Given the description of an element on the screen output the (x, y) to click on. 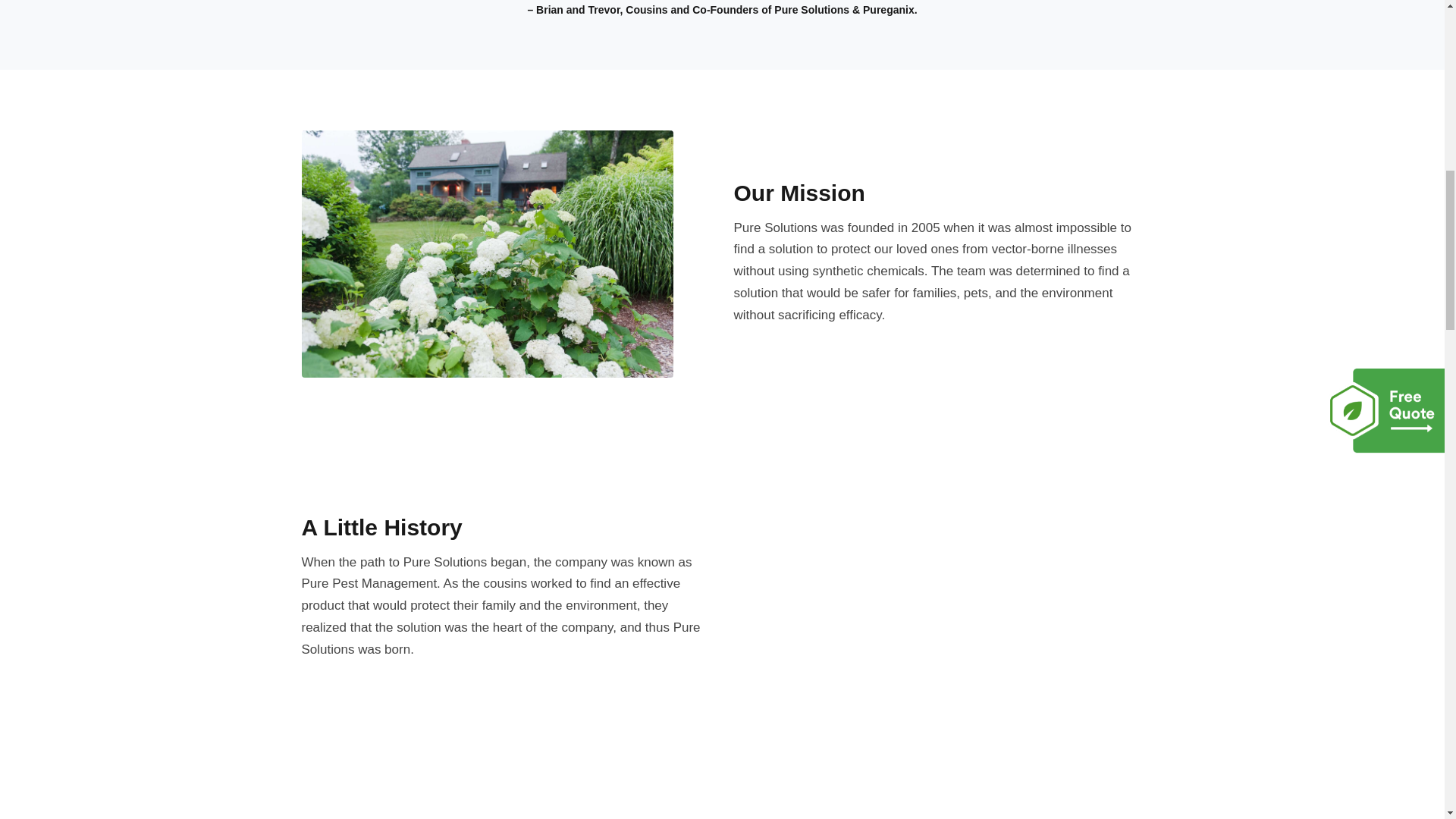
all-natural-pest-control (956, 642)
organic-pest-control (486, 253)
